Given the description of an element on the screen output the (x, y) to click on. 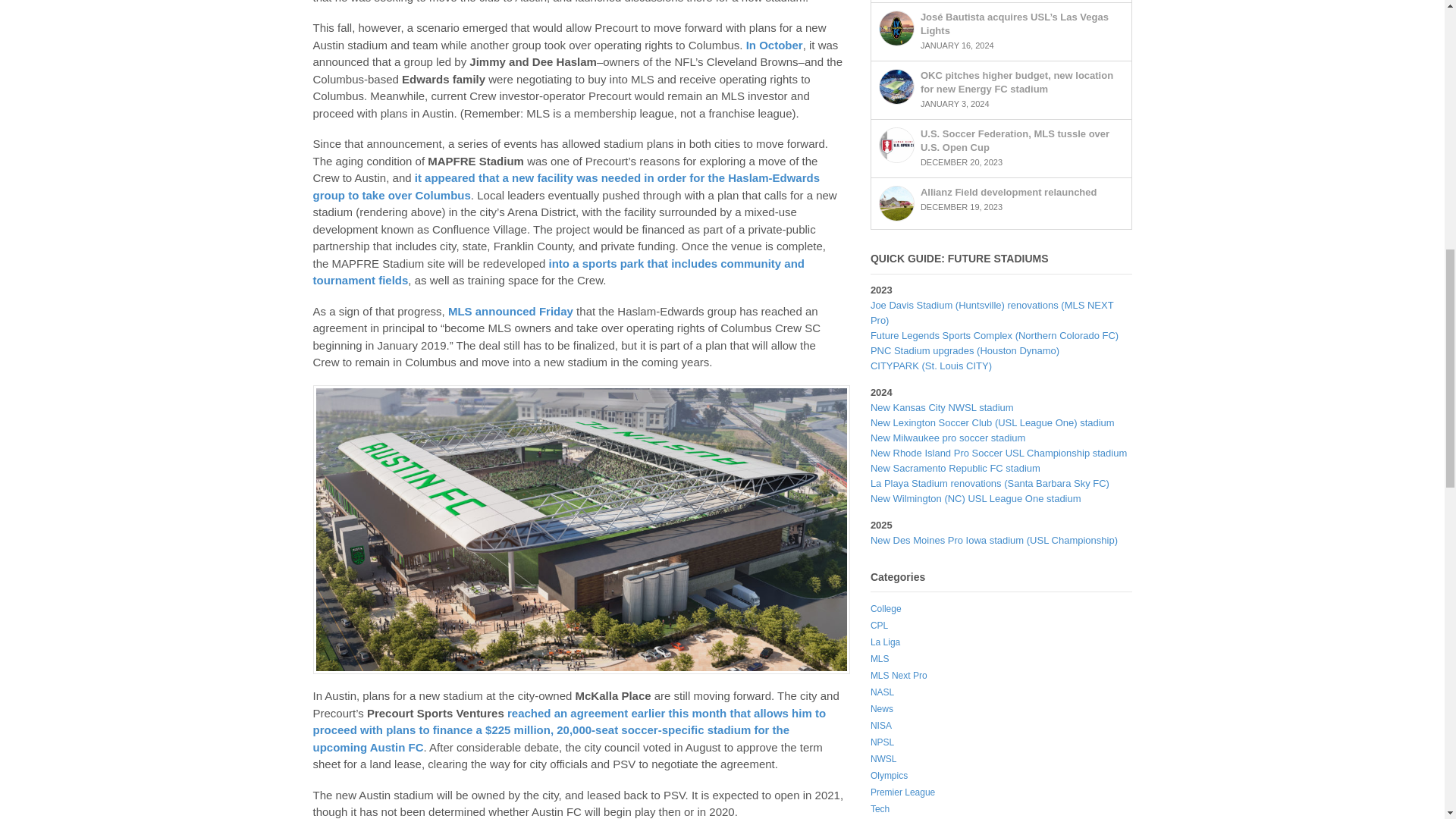
In October (774, 44)
MLS announced Friday (510, 310)
